Given the description of an element on the screen output the (x, y) to click on. 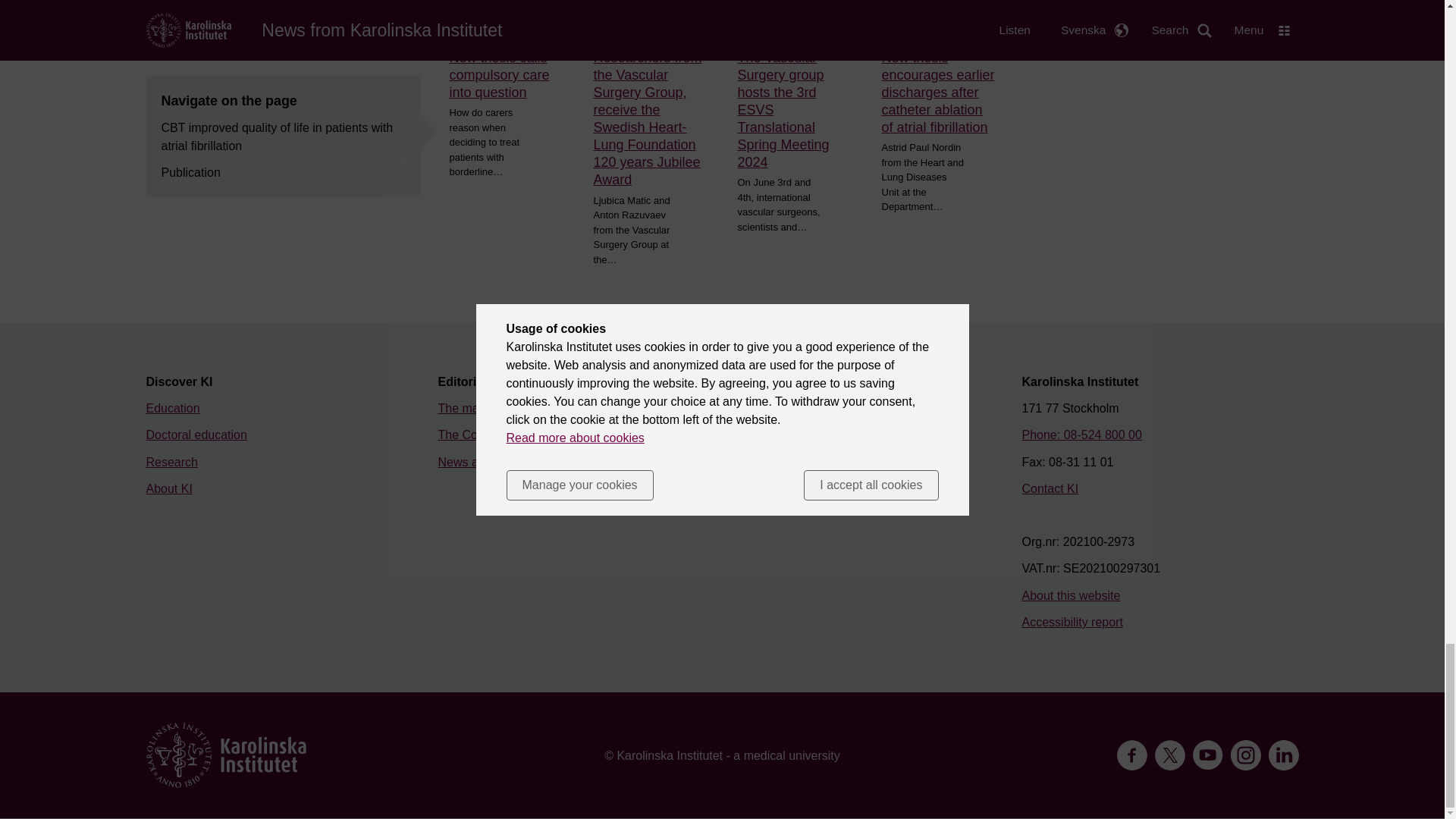
Home (225, 754)
New thesis calls compulsory care into question (505, 75)
